Given the description of an element on the screen output the (x, y) to click on. 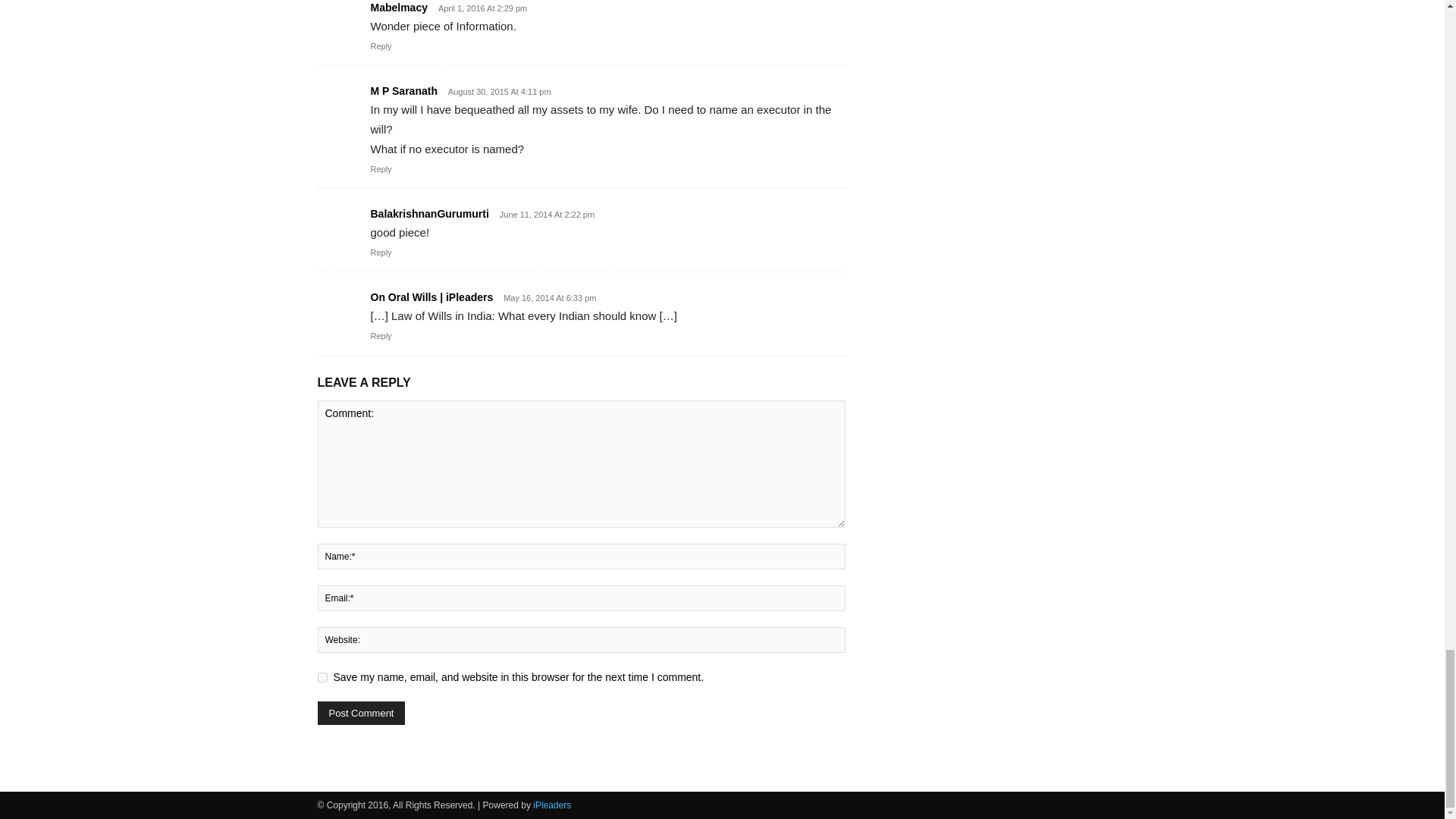
Post Comment (360, 712)
yes (321, 677)
